Given the description of an element on the screen output the (x, y) to click on. 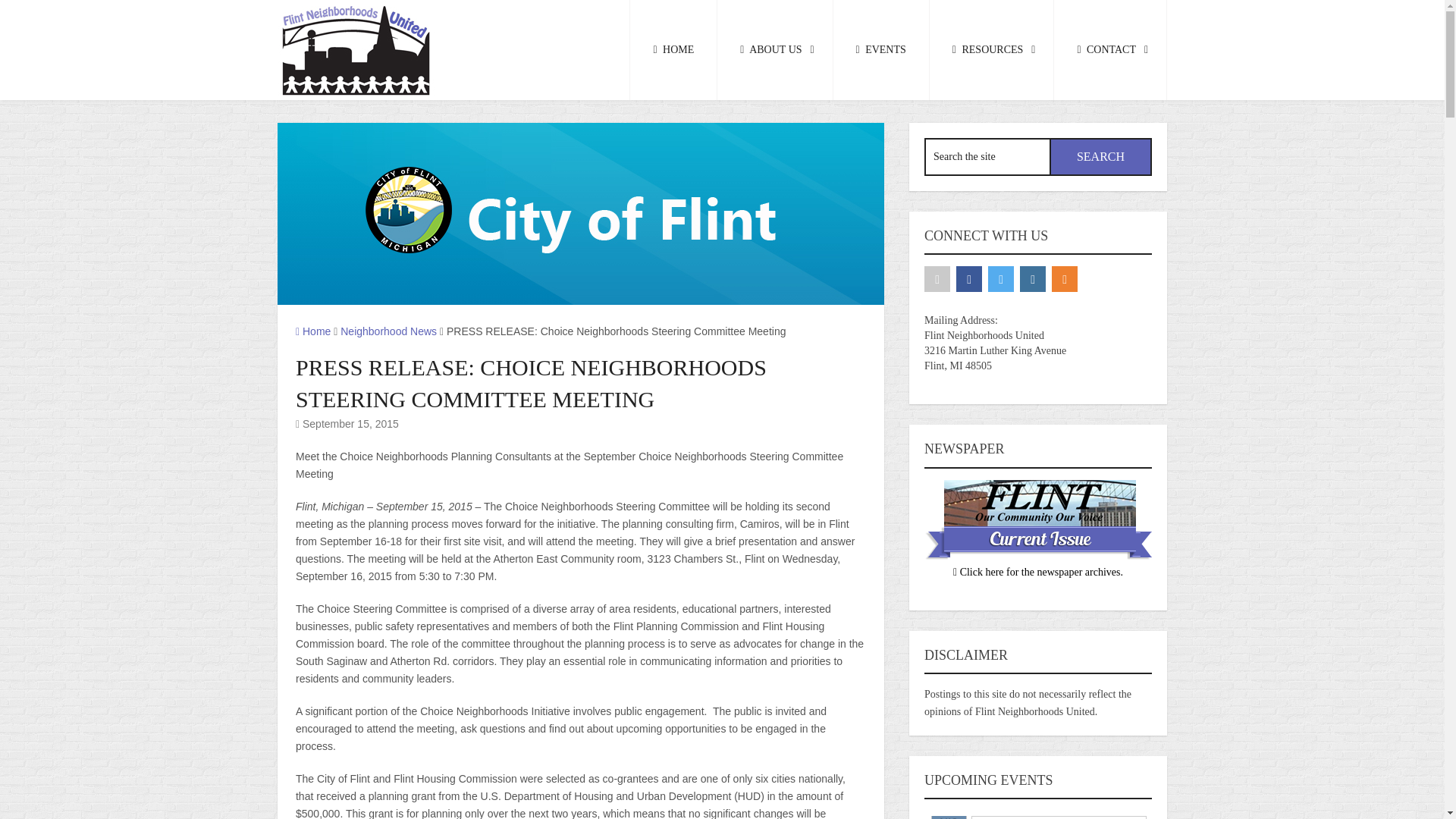
CONTACT (1110, 49)
RESOURCES (992, 49)
 Home (312, 331)
EVENTS (881, 49)
Neighborhood News (388, 331)
Search (1100, 157)
Facebook (968, 278)
ABOUT US (774, 49)
Email (937, 278)
Twitter (1000, 278)
